Given the description of an element on the screen output the (x, y) to click on. 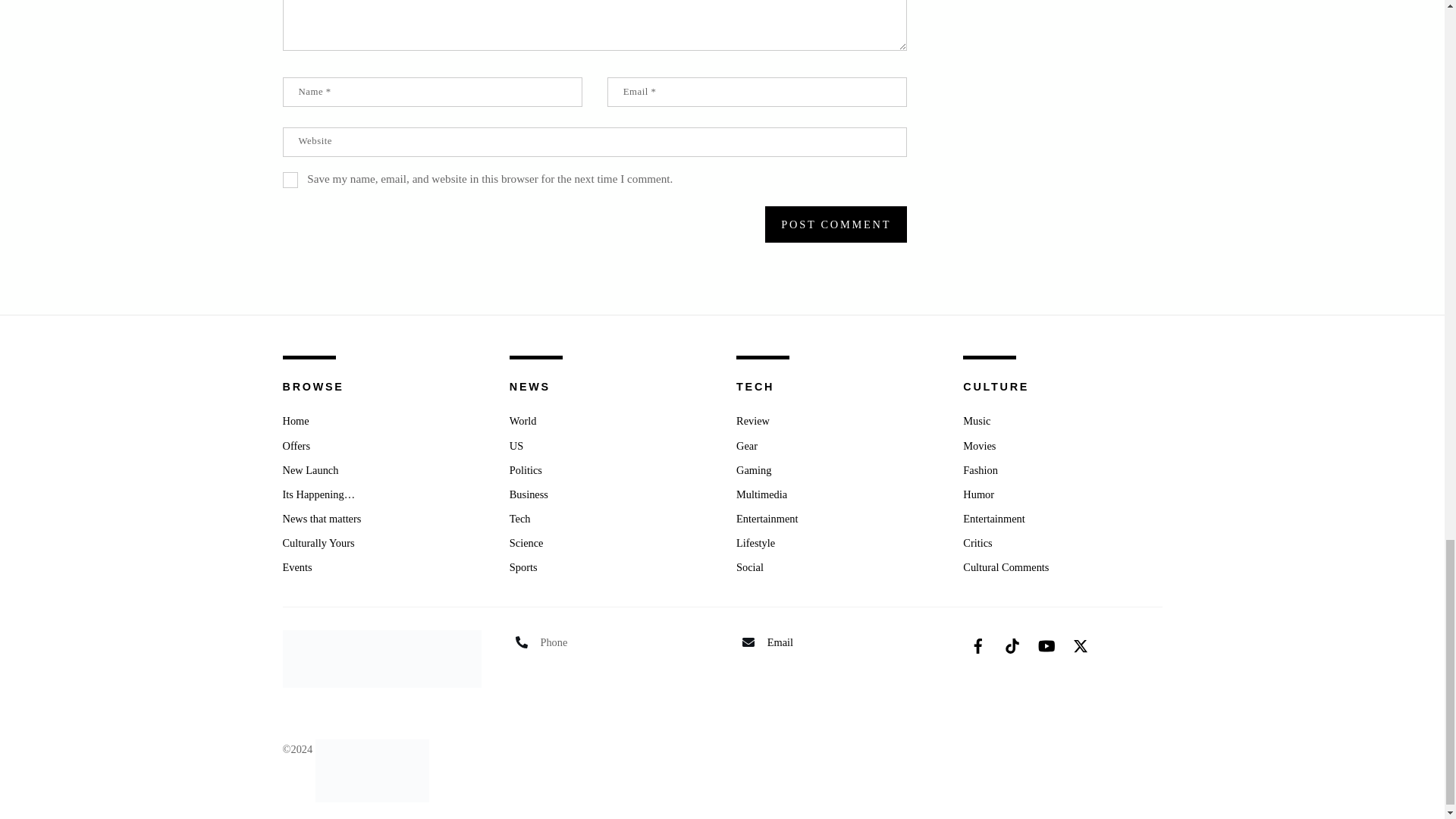
logo (381, 658)
yes (290, 179)
Plutonic Logo (372, 770)
Post Comment (836, 224)
Post Comment (836, 224)
PlutonicTech (372, 748)
